Given the description of an element on the screen output the (x, y) to click on. 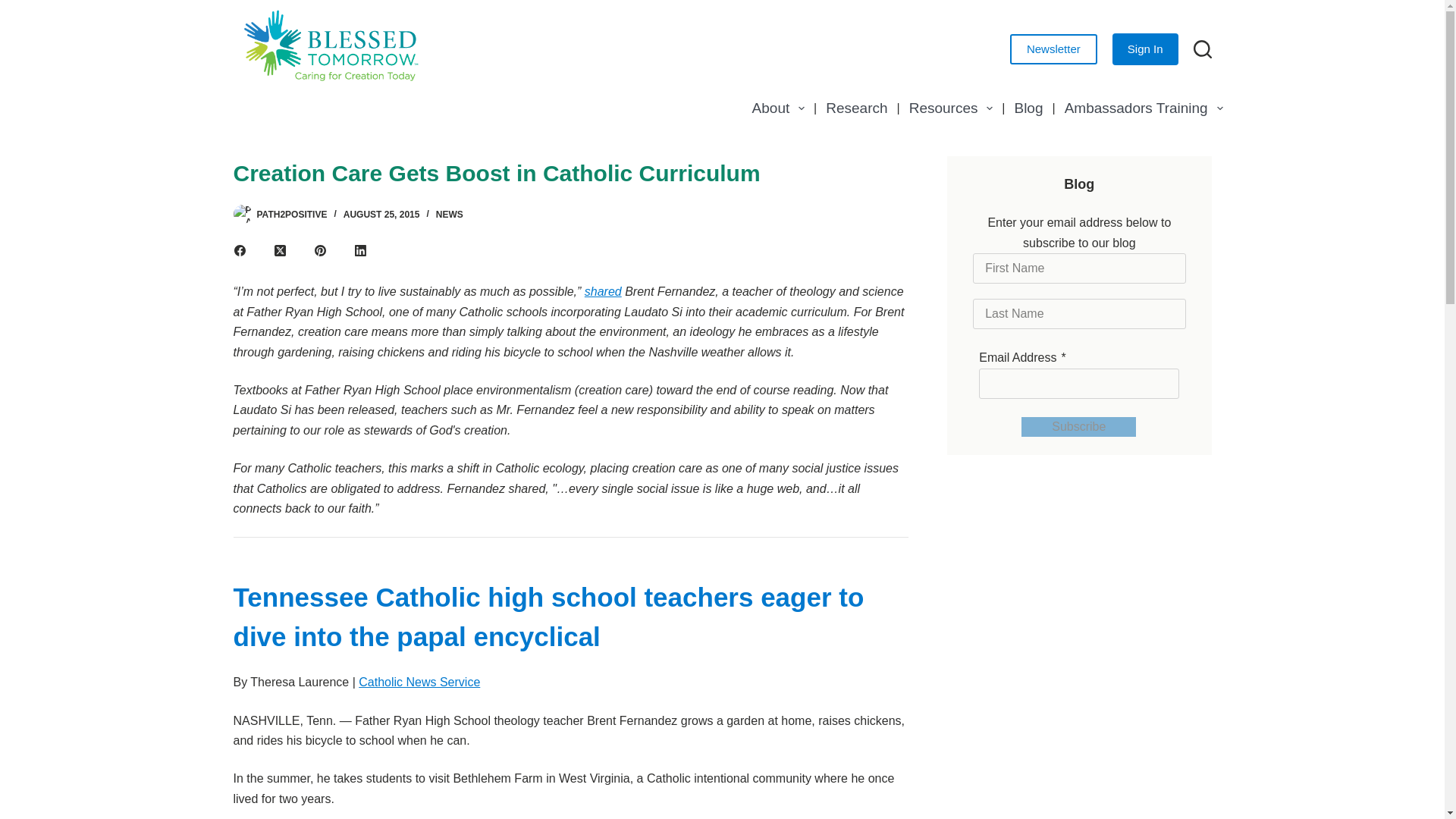
Skip to content (15, 7)
Posts by path2positive (291, 214)
Sign In (1144, 49)
Newsletter (1053, 49)
Subscribe (1078, 426)
Research (856, 107)
About (777, 107)
Resources (951, 107)
Creation Care Gets Boost in Catholic Curriculum (570, 173)
